Given the description of an element on the screen output the (x, y) to click on. 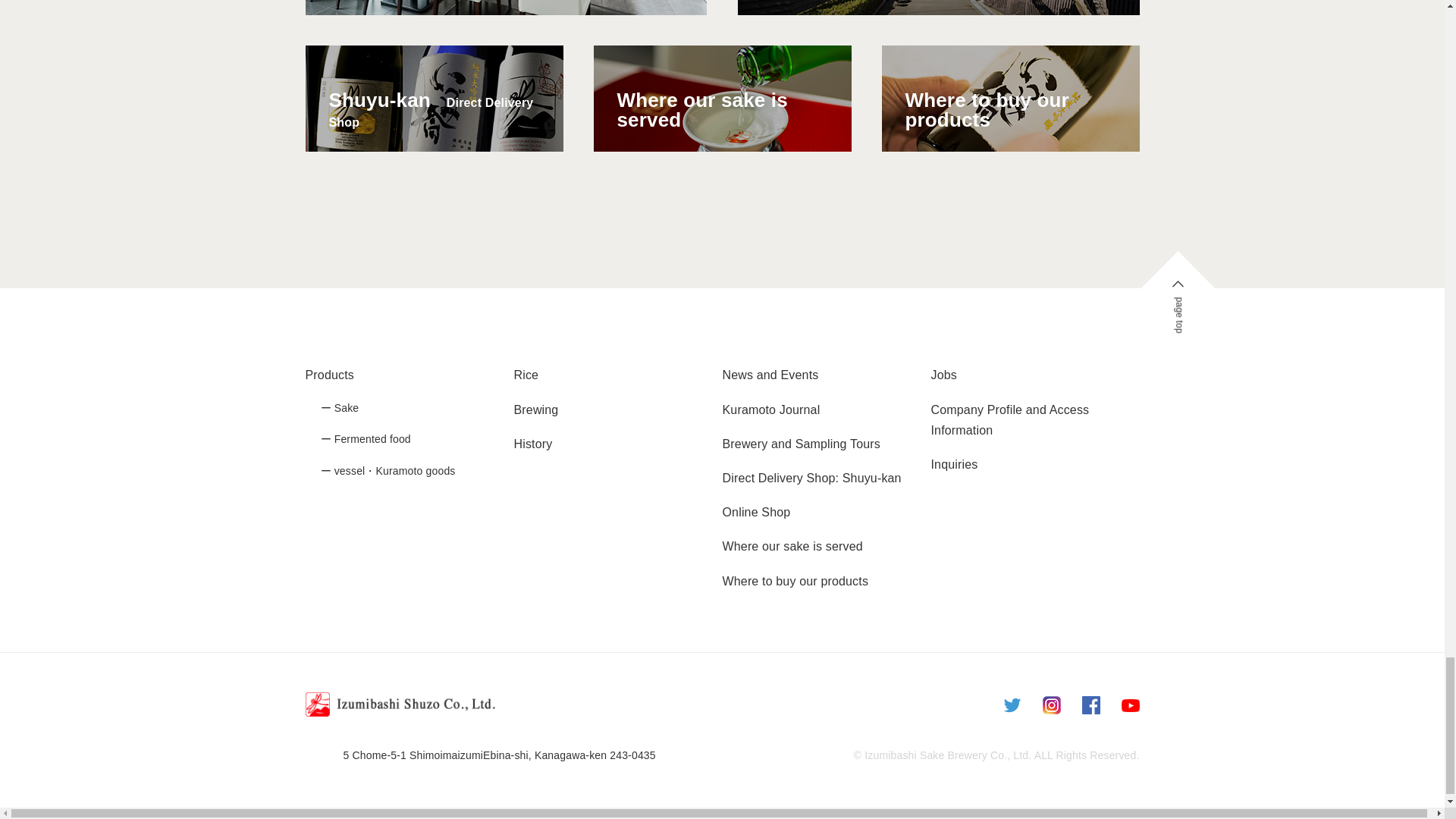
Online Shop (756, 512)
Shuyu-kanDirect Delivery Shop (433, 97)
Products (328, 374)
Direct Delivery Shop: Shuyu-kan (811, 477)
Brewery and Sampling Tours (800, 443)
News and Events (770, 374)
Where to buy our products (1009, 97)
Brewing (536, 409)
Where our sake is served (721, 97)
Where our sake is served (791, 545)
Rice (525, 374)
History (533, 443)
Kuramoto Journal (770, 409)
